Given the description of an element on the screen output the (x, y) to click on. 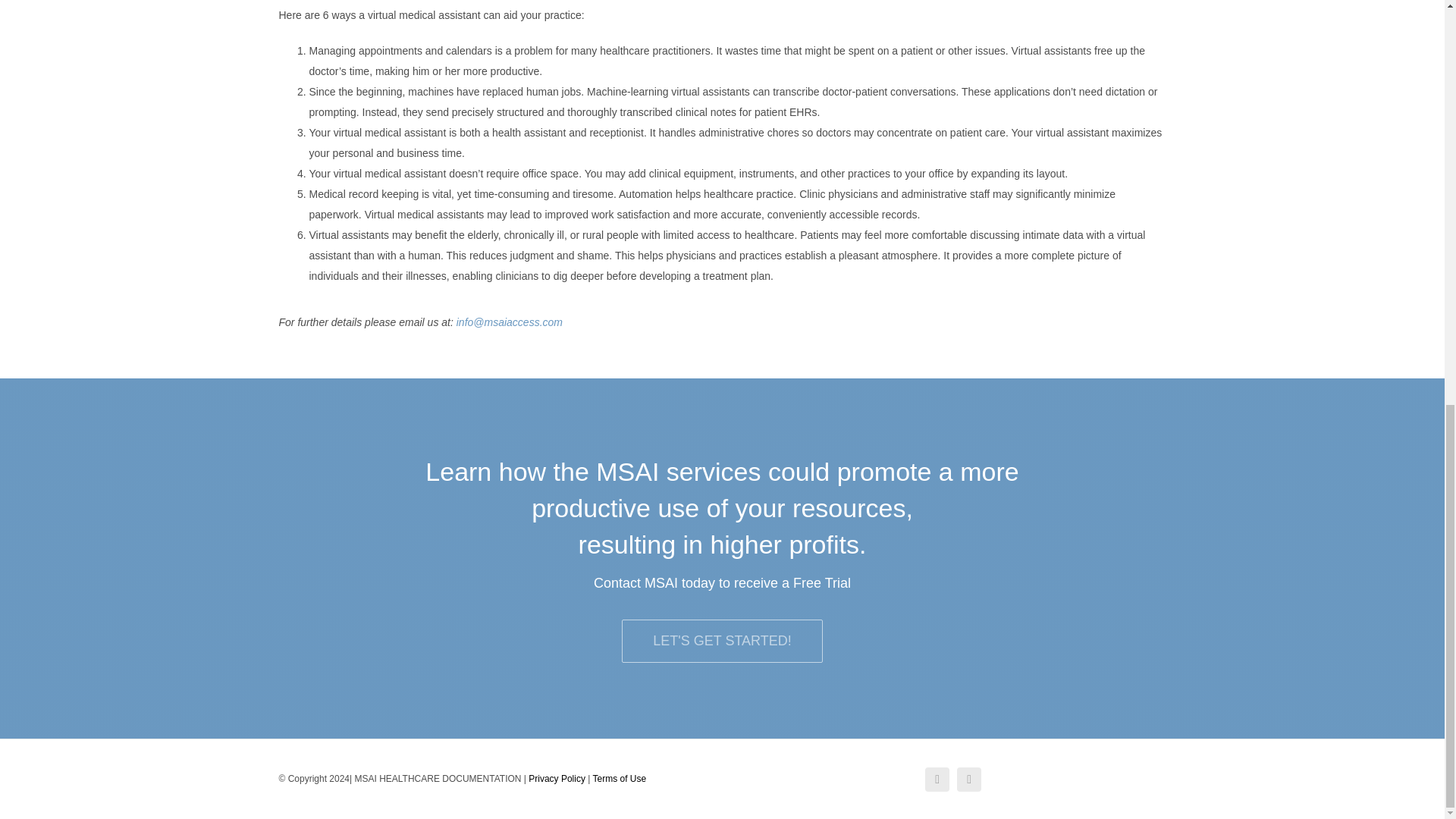
Privacy Policy (556, 778)
Twitter (968, 779)
Terms of Use (619, 778)
Facebook (936, 779)
LET'S GET STARTED! (721, 640)
